Given the description of an element on the screen output the (x, y) to click on. 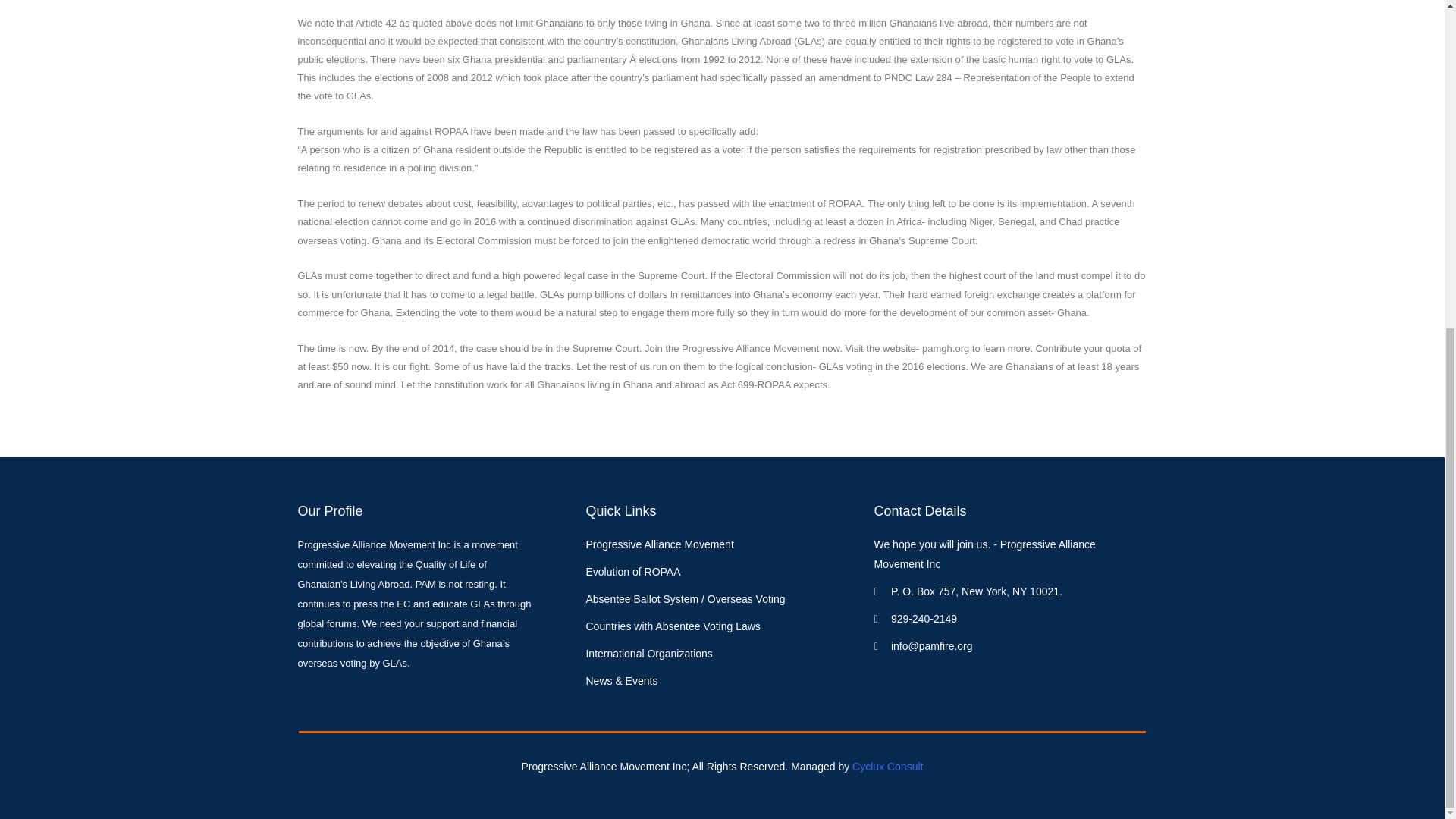
Evolution of ROPAA (722, 572)
Cyclux Consult (887, 766)
International Organizations (722, 654)
Countries with Absentee Voting Laws (722, 627)
Progressive Alliance Movement (722, 545)
